Given the description of an element on the screen output the (x, y) to click on. 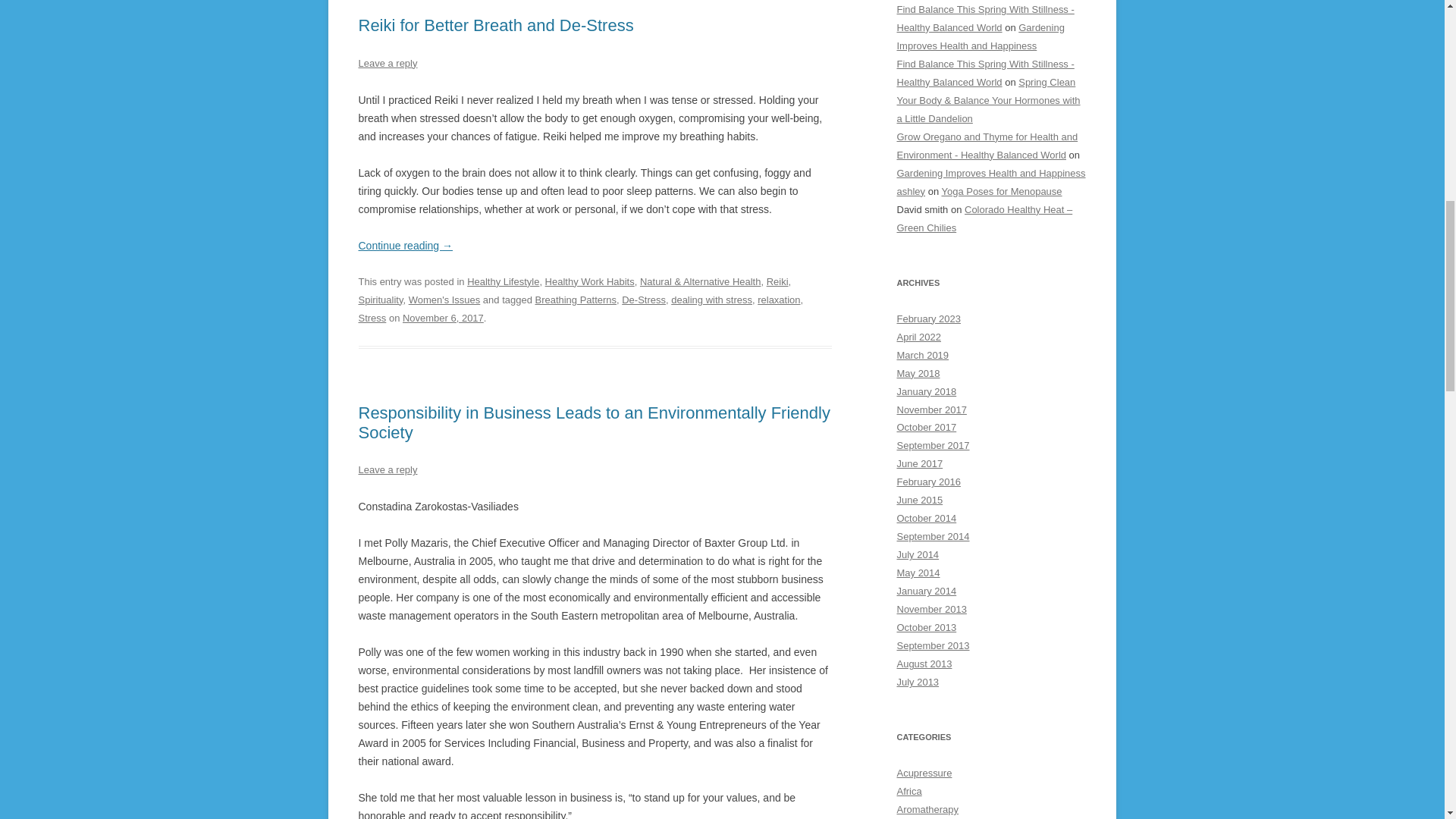
Healthy Work Habits (589, 281)
De-Stress (643, 299)
Women's Issues (444, 299)
Reiki (778, 281)
Spirituality (380, 299)
relaxation (778, 299)
Stress (371, 317)
1:36 am (443, 317)
Leave a reply (387, 469)
Leave a reply (387, 62)
Healthy Lifestyle (502, 281)
Reiki for Better Breath and De-Stress (495, 25)
Breathing Patterns (574, 299)
dealing with stress (711, 299)
